Given the description of an element on the screen output the (x, y) to click on. 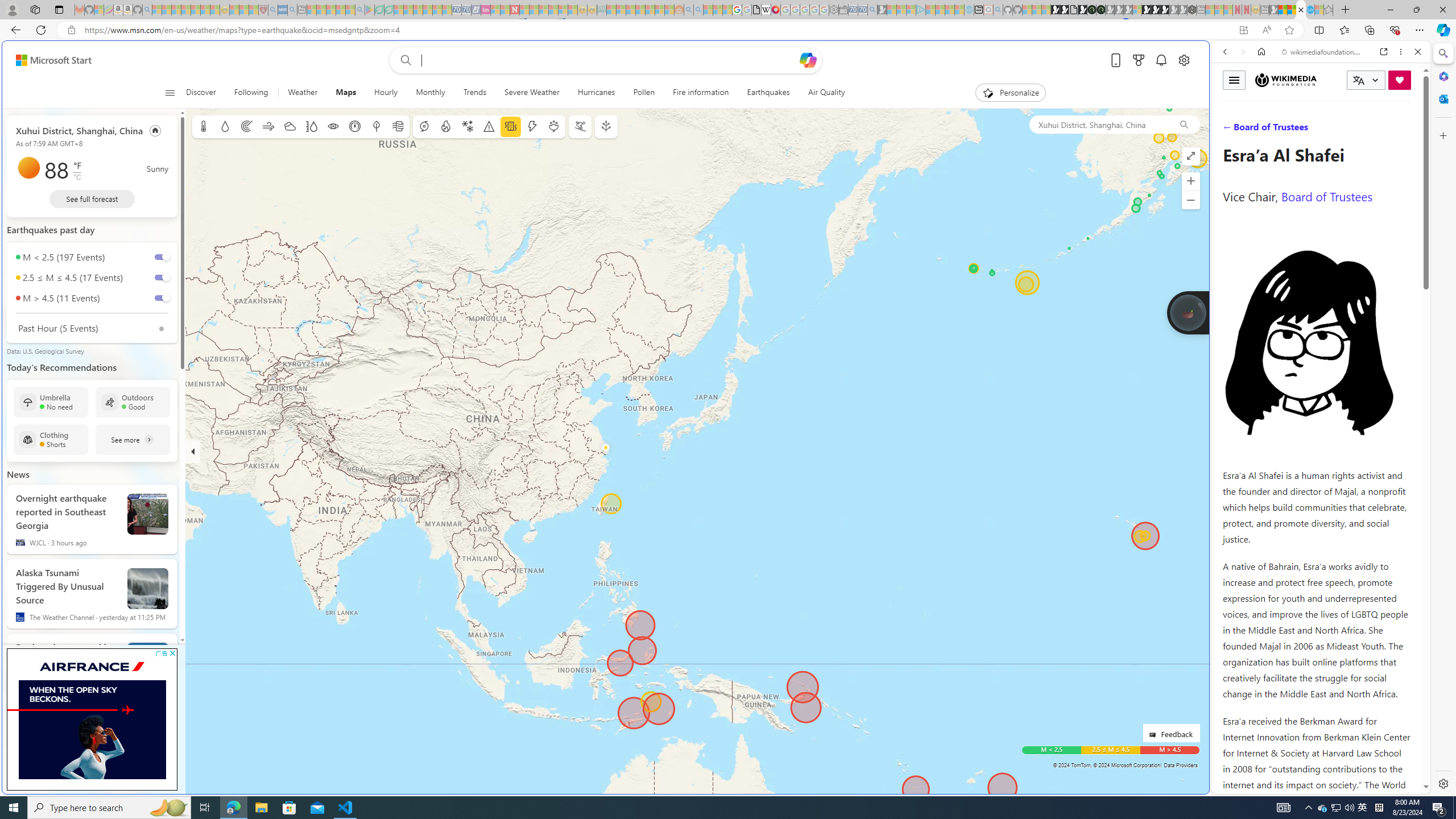
AutomationID: cbb (172, 652)
Web scope (1230, 102)
Robert H. Shmerling, MD - Harvard Health - Sleeping (263, 9)
Alaska Tsunami Triggered By Unusual Source (148, 588)
Severe weather (489, 126)
WJCL (20, 542)
Open navigation menu (170, 92)
Join us in planting real trees to help our planet! (1188, 312)
Clothing Shorts (50, 439)
Humidity (311, 126)
